Given the description of an element on the screen output the (x, y) to click on. 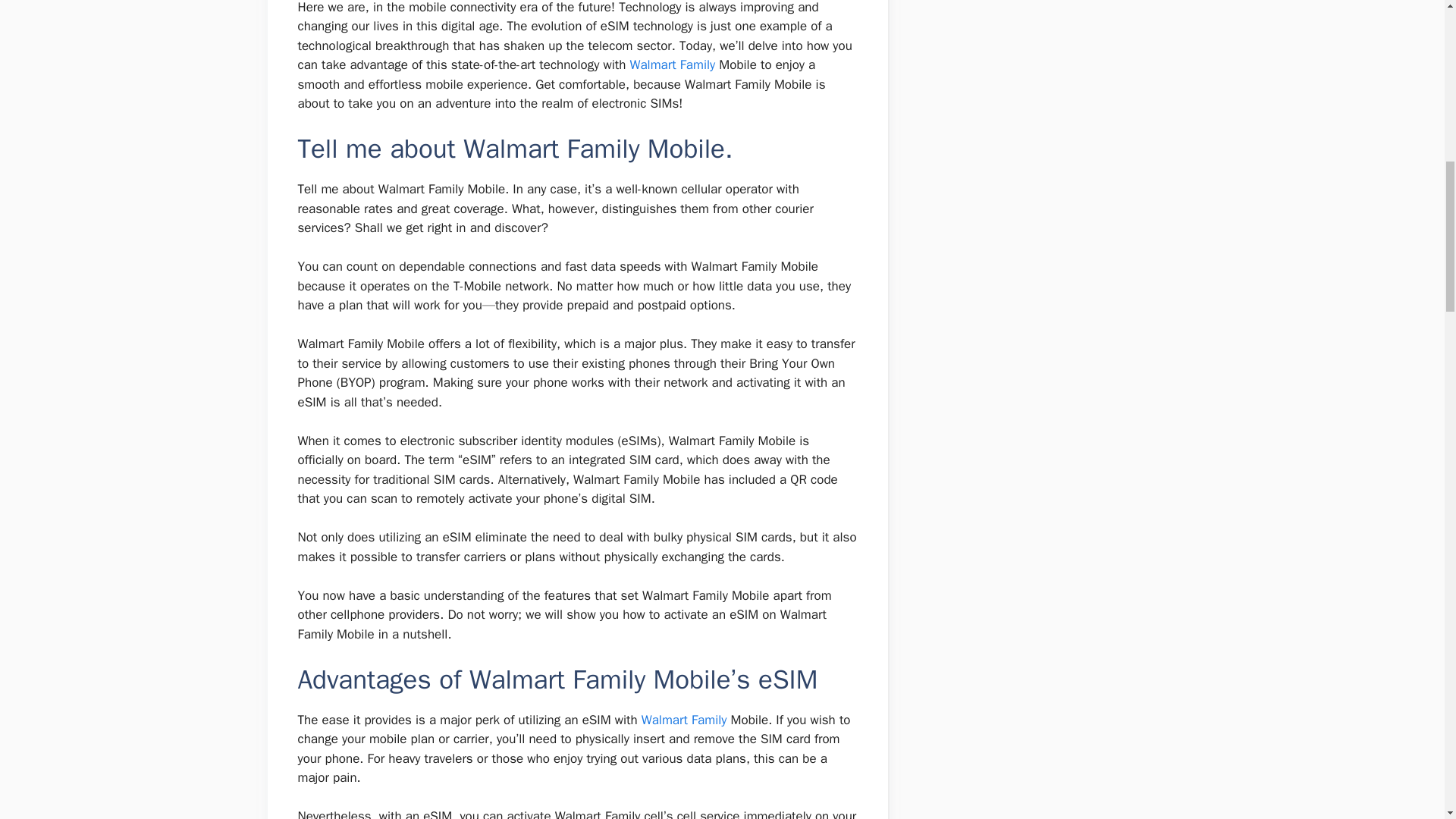
Walmart Family (671, 64)
Walmart Family (684, 719)
